Given the description of an element on the screen output the (x, y) to click on. 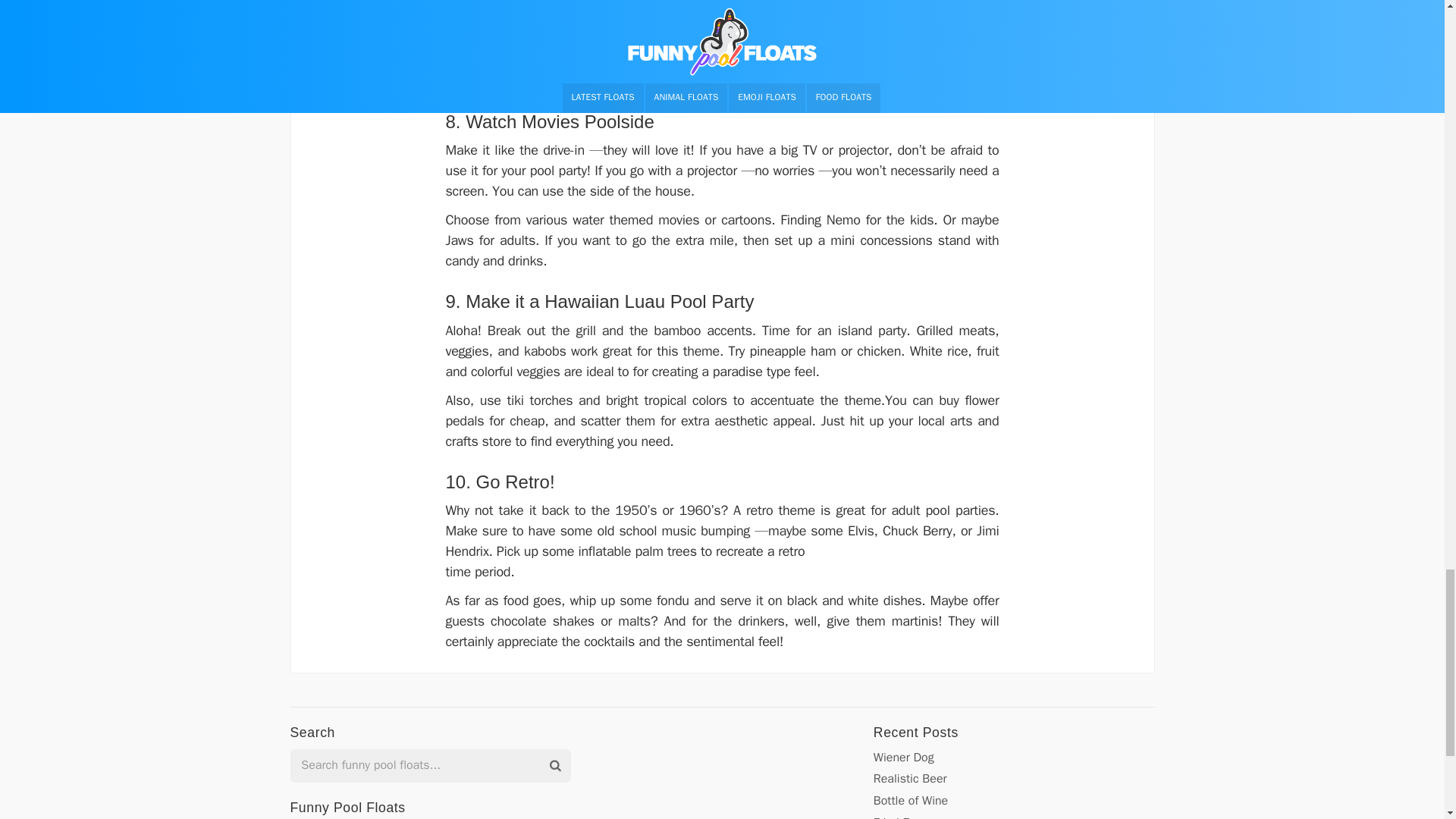
Wiener Dog (903, 756)
Fried Eggs (900, 816)
Realistic Beer (910, 778)
Bottle of Wine (910, 800)
